Given the description of an element on the screen output the (x, y) to click on. 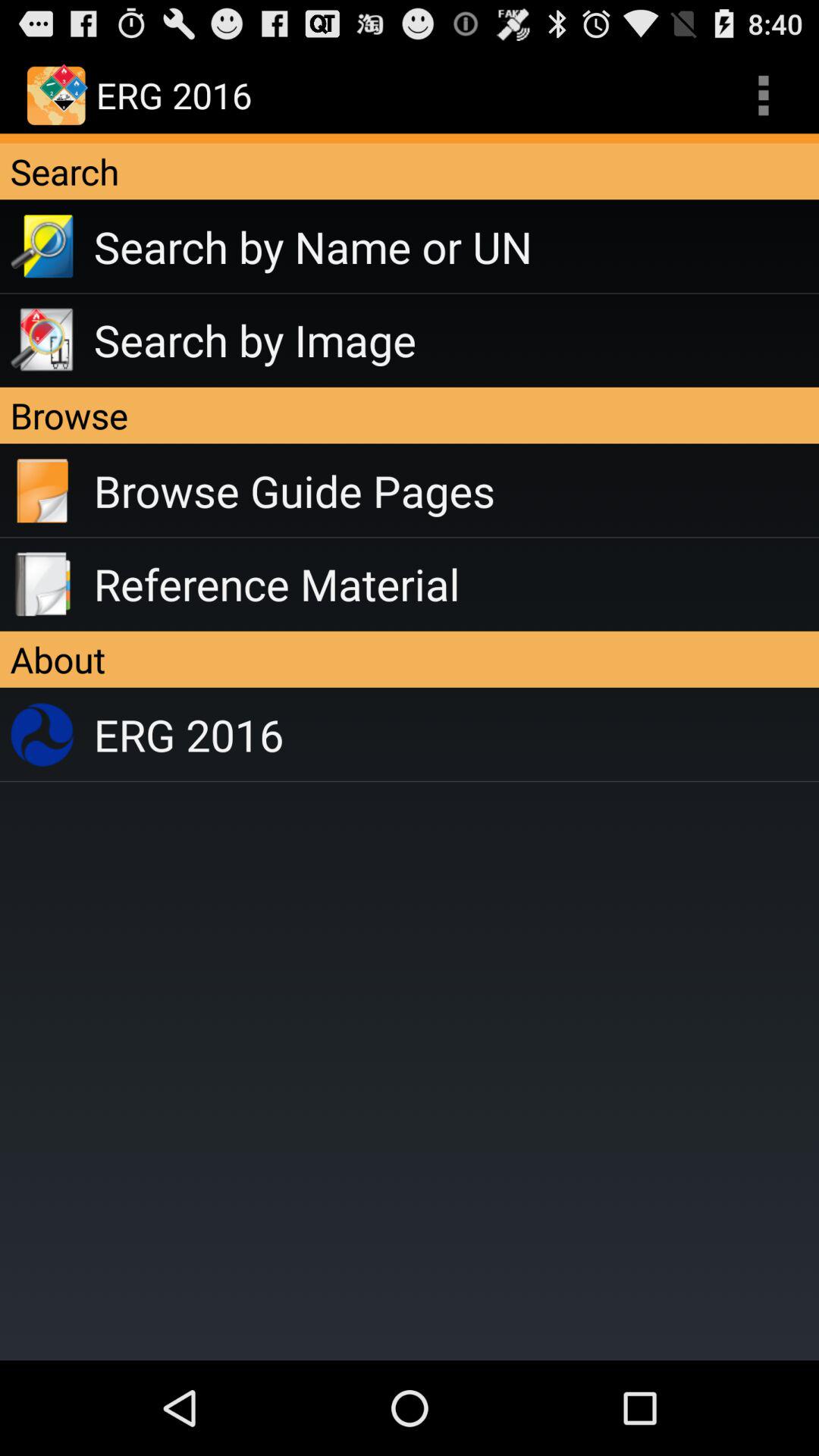
turn off the app below the reference material app (409, 659)
